Given the description of an element on the screen output the (x, y) to click on. 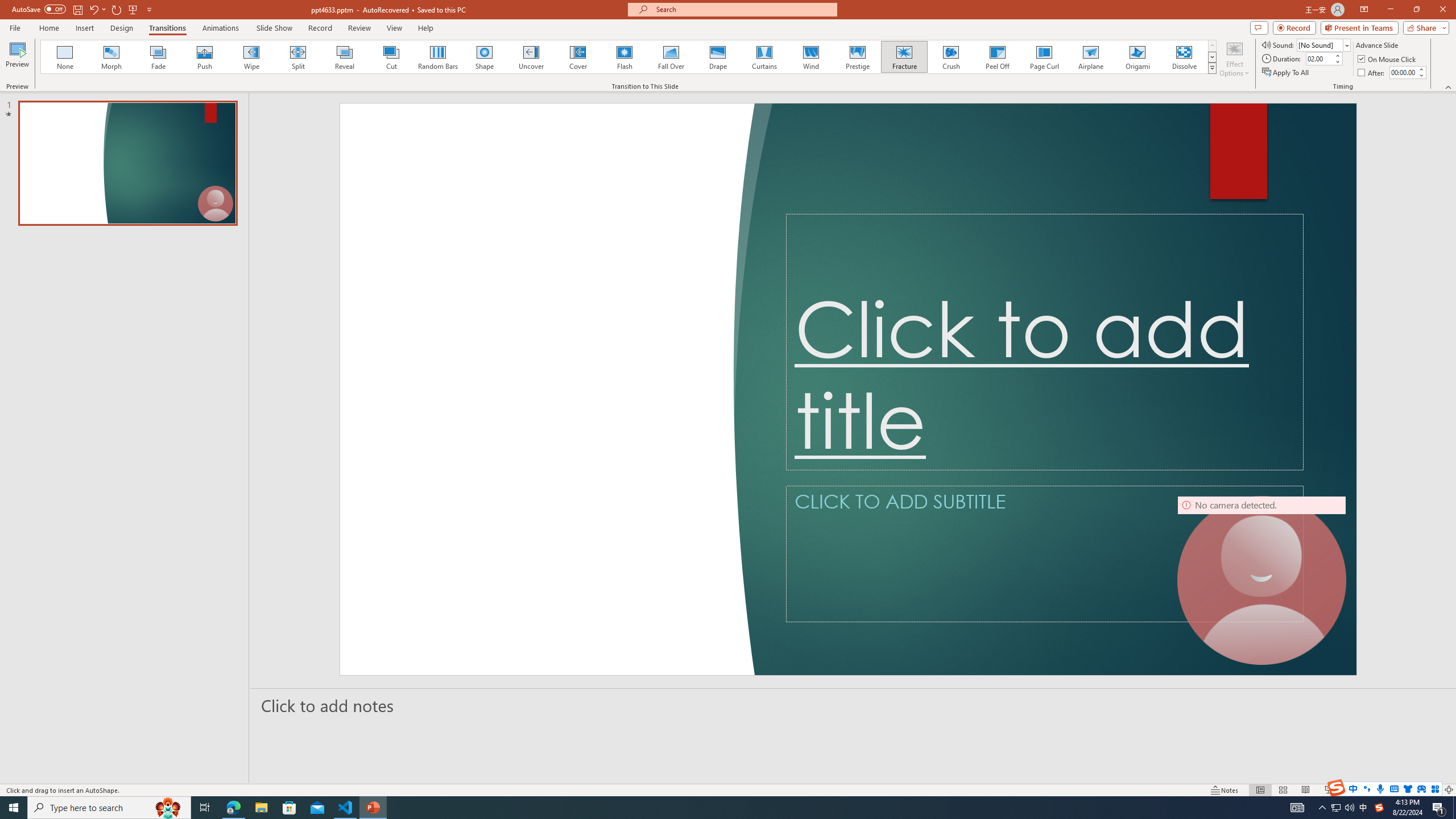
On Mouse Click (1387, 58)
Wipe (251, 56)
Split (298, 56)
Peel Off (997, 56)
Origami (1136, 56)
Sound (1324, 44)
